Given the description of an element on the screen output the (x, y) to click on. 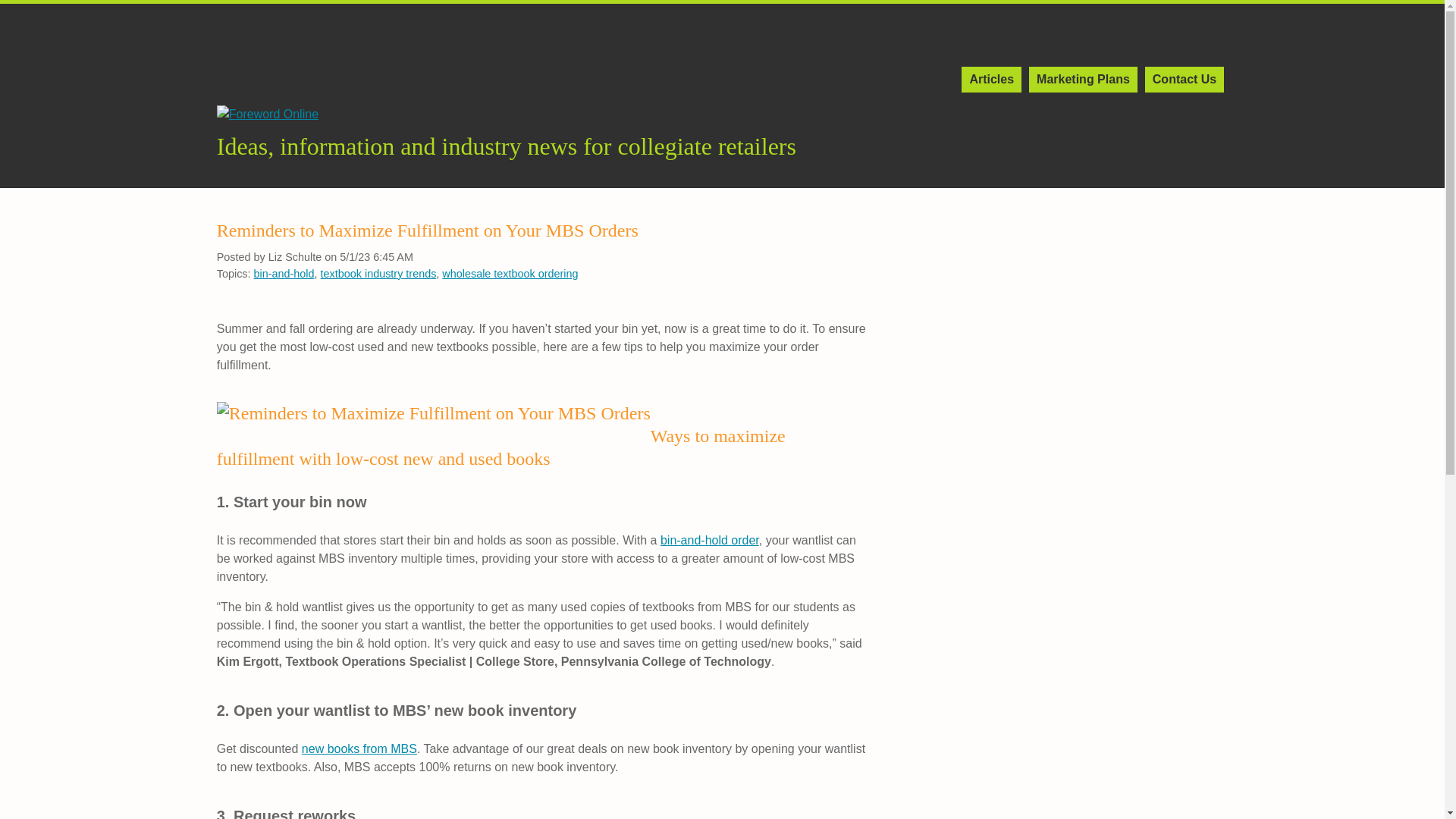
Articles (991, 79)
bin-and-hold order (709, 540)
bin-and-hold (283, 273)
textbook industry trends (378, 273)
Marketing Plans (1083, 79)
wholesale textbook ordering (510, 273)
Contact Us (1184, 79)
Foreword Online (267, 114)
new books from MBS (358, 748)
